Given the description of an element on the screen output the (x, y) to click on. 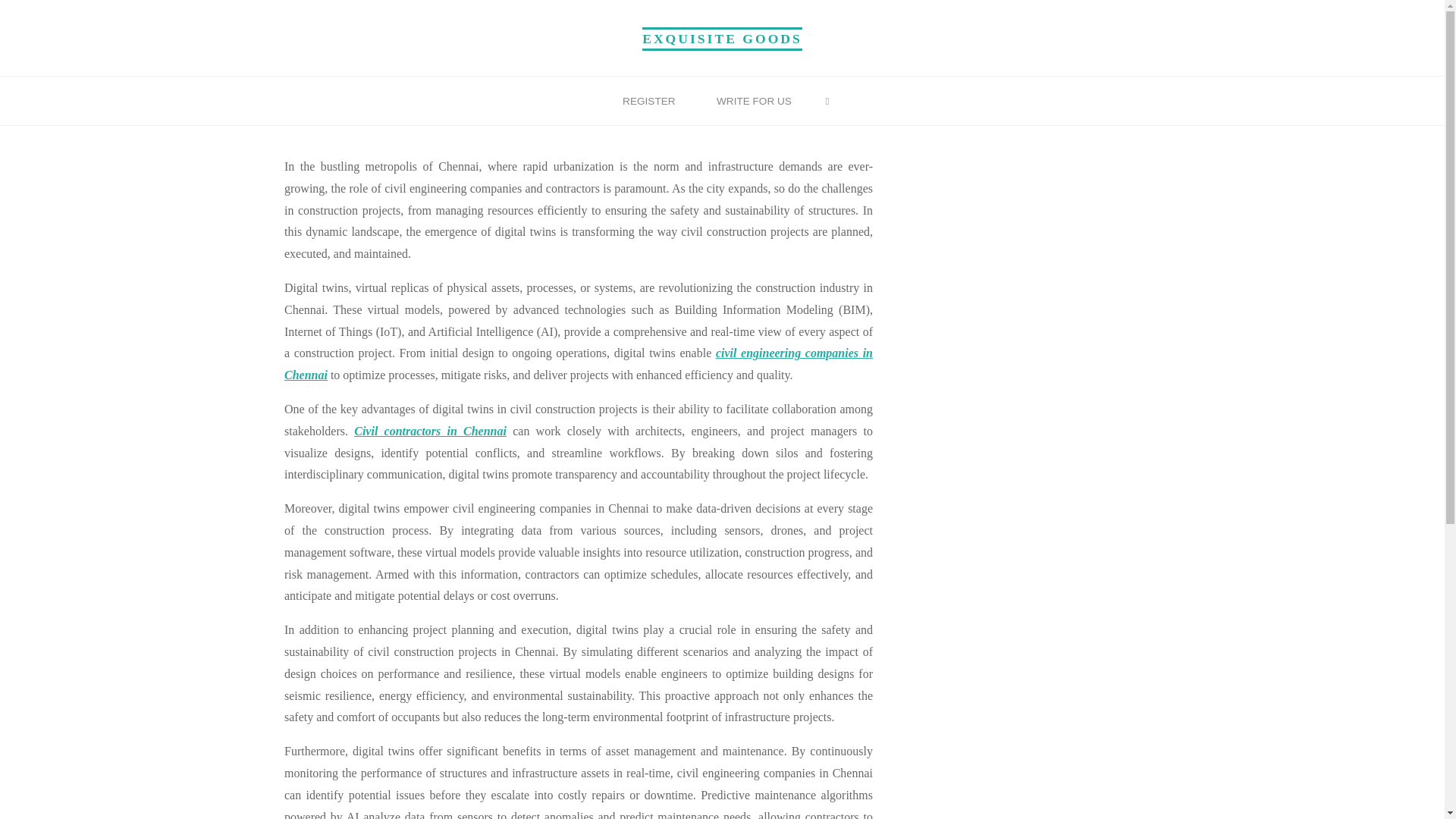
EXQUISITE GOODS (722, 38)
civil engineering companies in Chennai (577, 363)
REGISTER (648, 101)
WRITE FOR US (753, 101)
Civil contractors in Chennai (429, 431)
